Given the description of an element on the screen output the (x, y) to click on. 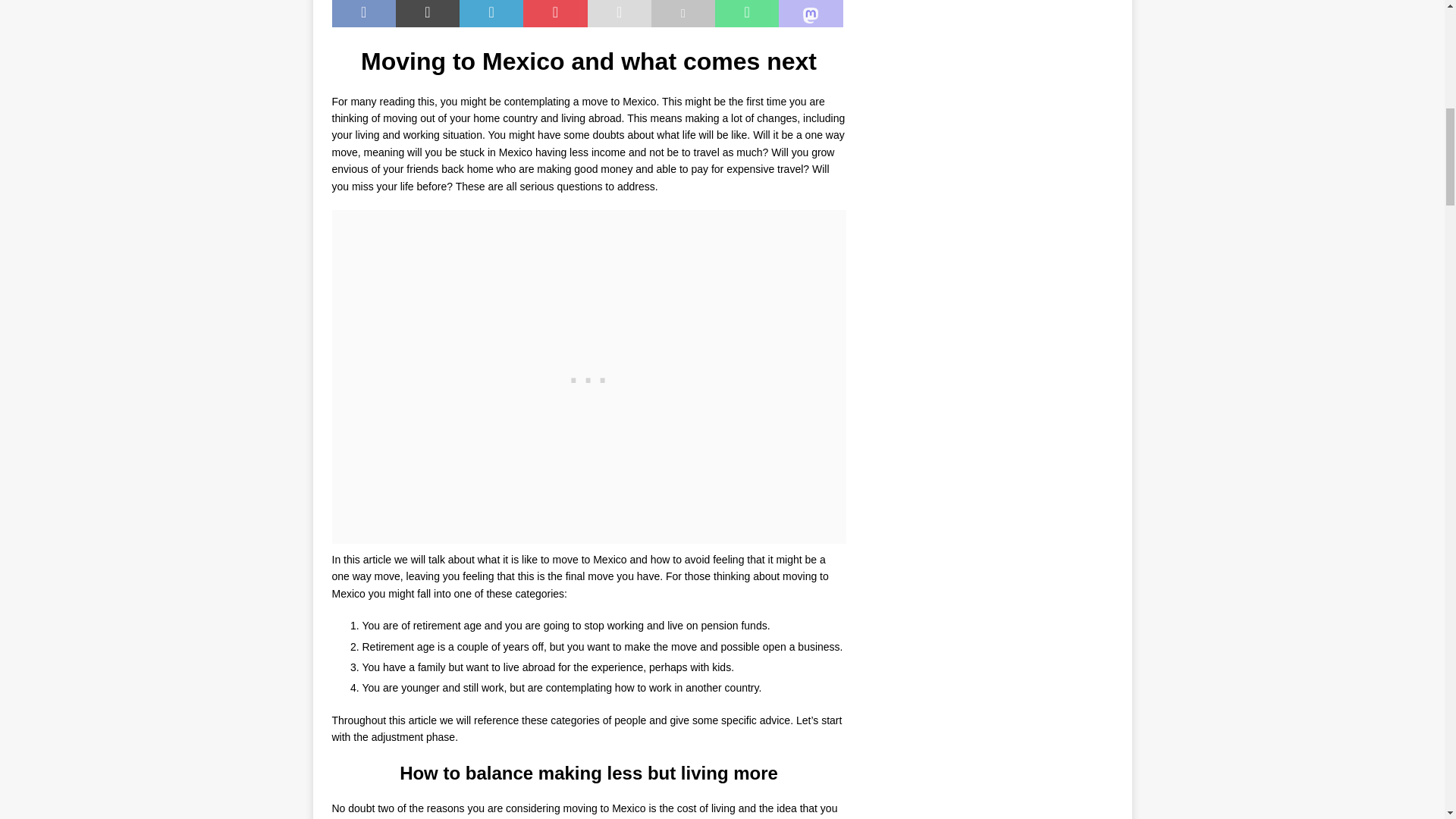
Share on Facebook (363, 13)
Tweet This Post (428, 13)
Share on LinkedIn (491, 13)
Pin This Post (554, 13)
Send this article to a friend (619, 13)
Print this article (682, 13)
